Given the description of an element on the screen output the (x, y) to click on. 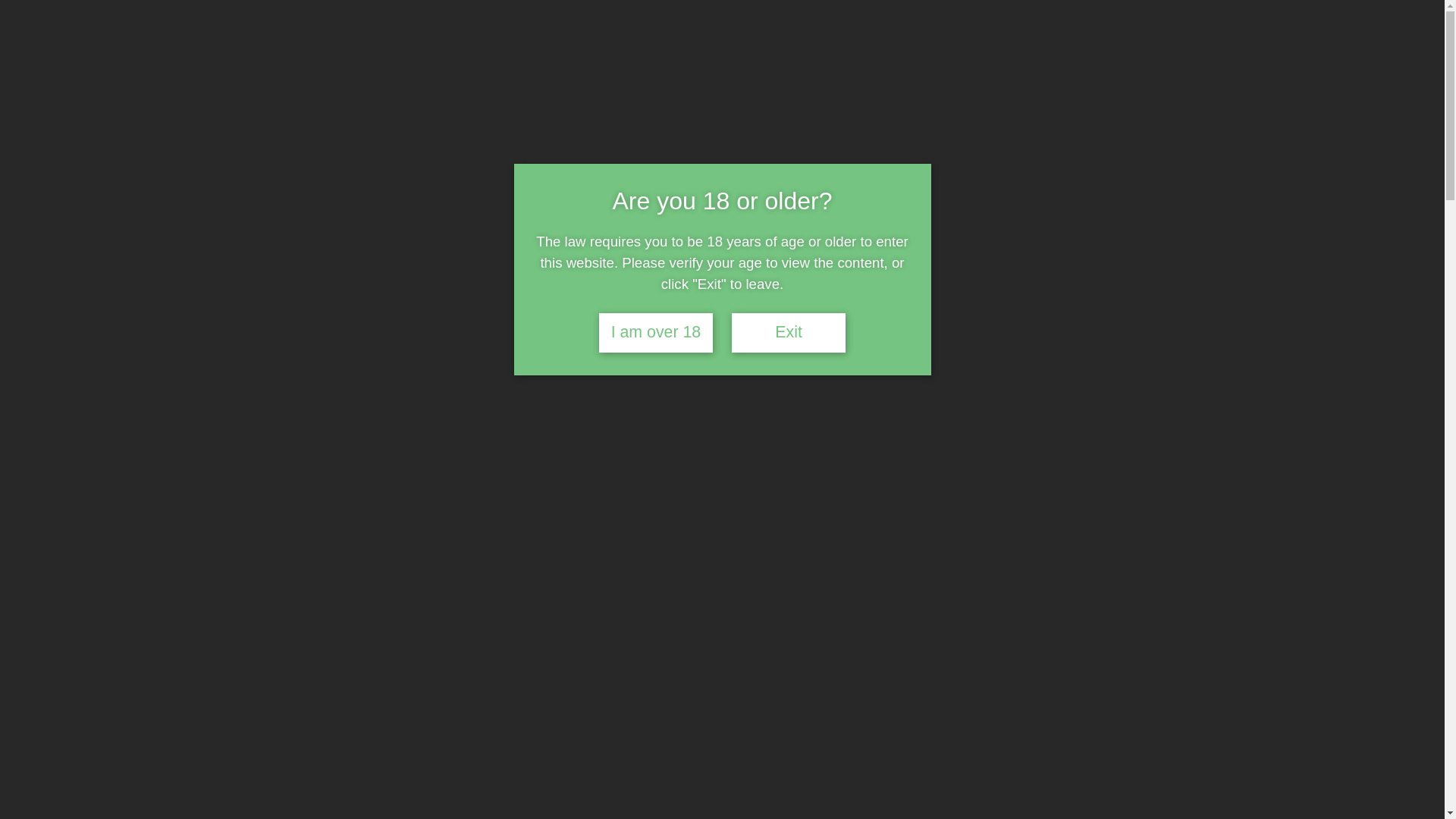
Home (315, 185)
Ganjactivist.com T.V (607, 185)
Products We Like (1107, 185)
Ganjactivist.com Magazine (444, 185)
